Given the description of an element on the screen output the (x, y) to click on. 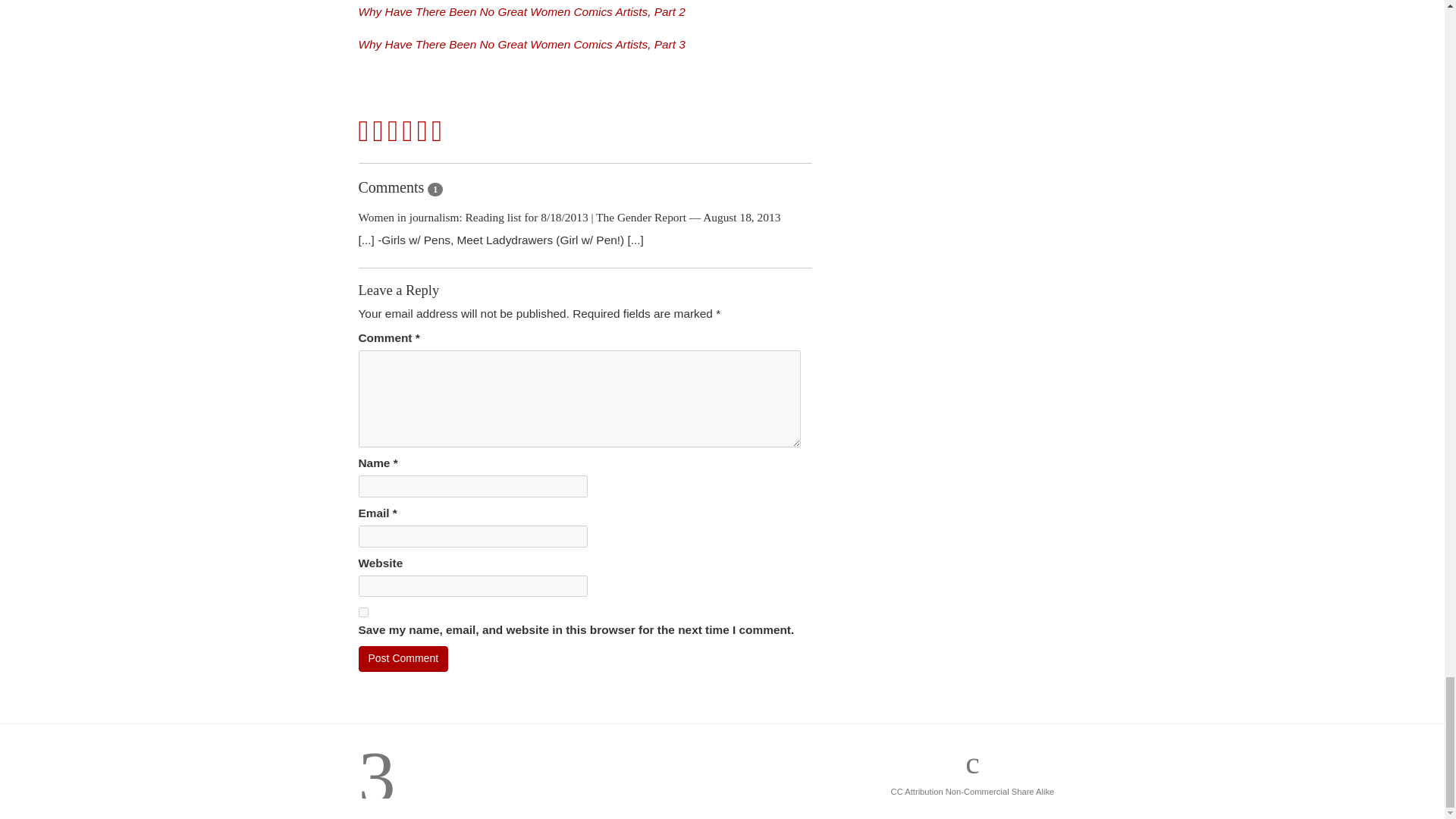
Tweet (378, 131)
Submit to Reddit (422, 131)
Post Comment (403, 658)
yes (363, 612)
Pin it (408, 131)
Why Have There Been No Great Women Comics Artists, Part 2 (521, 11)
Post to Tumblr (392, 131)
Email (436, 131)
Share on Facebook (363, 131)
